Given the description of an element on the screen output the (x, y) to click on. 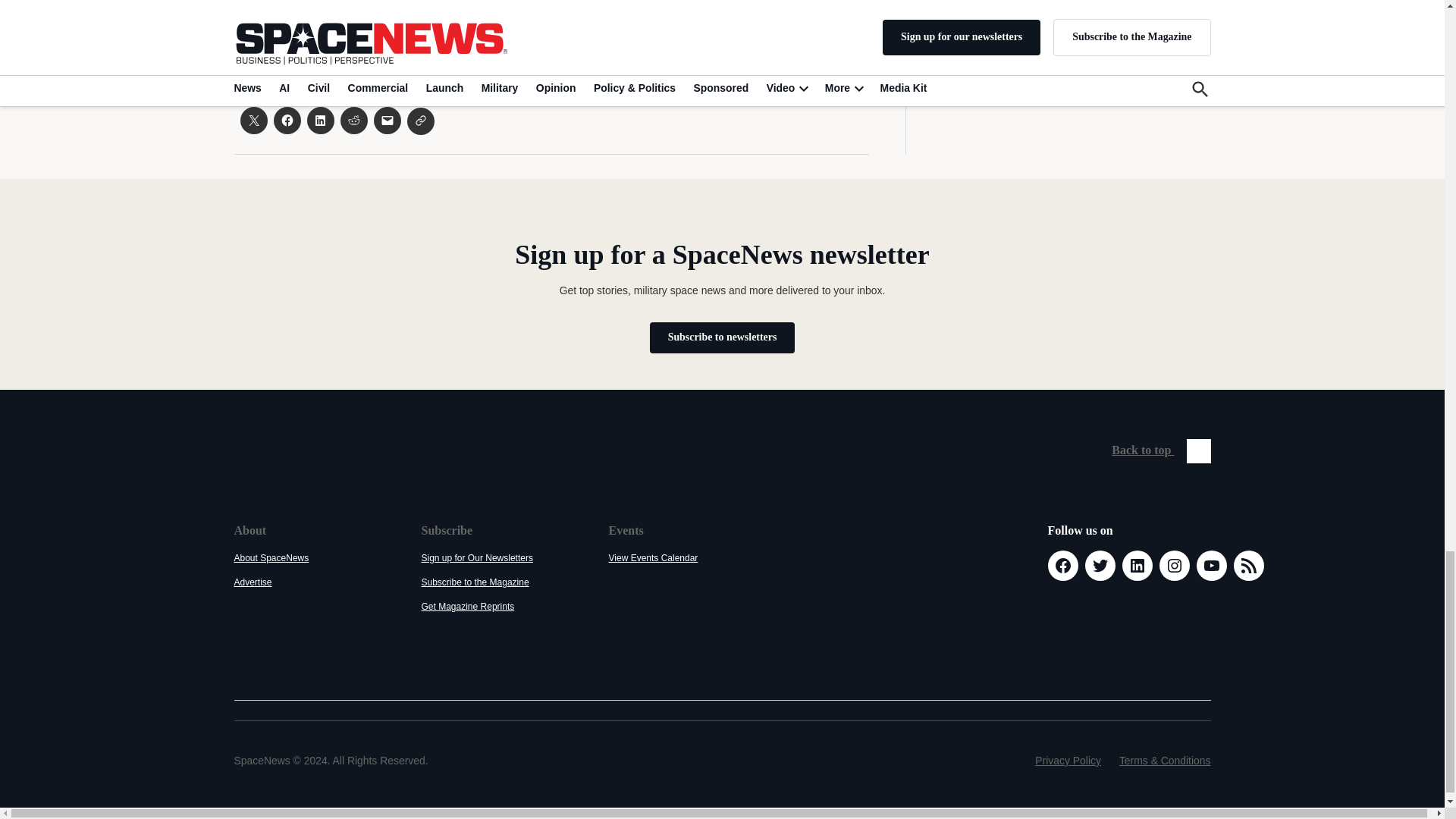
Click to email a link to a friend (386, 120)
Click to share on Clipboard (419, 121)
Click to share on X (253, 120)
Click to share on Facebook (286, 120)
Click to share on Reddit (352, 120)
Click to share on LinkedIn (319, 120)
